Given the description of an element on the screen output the (x, y) to click on. 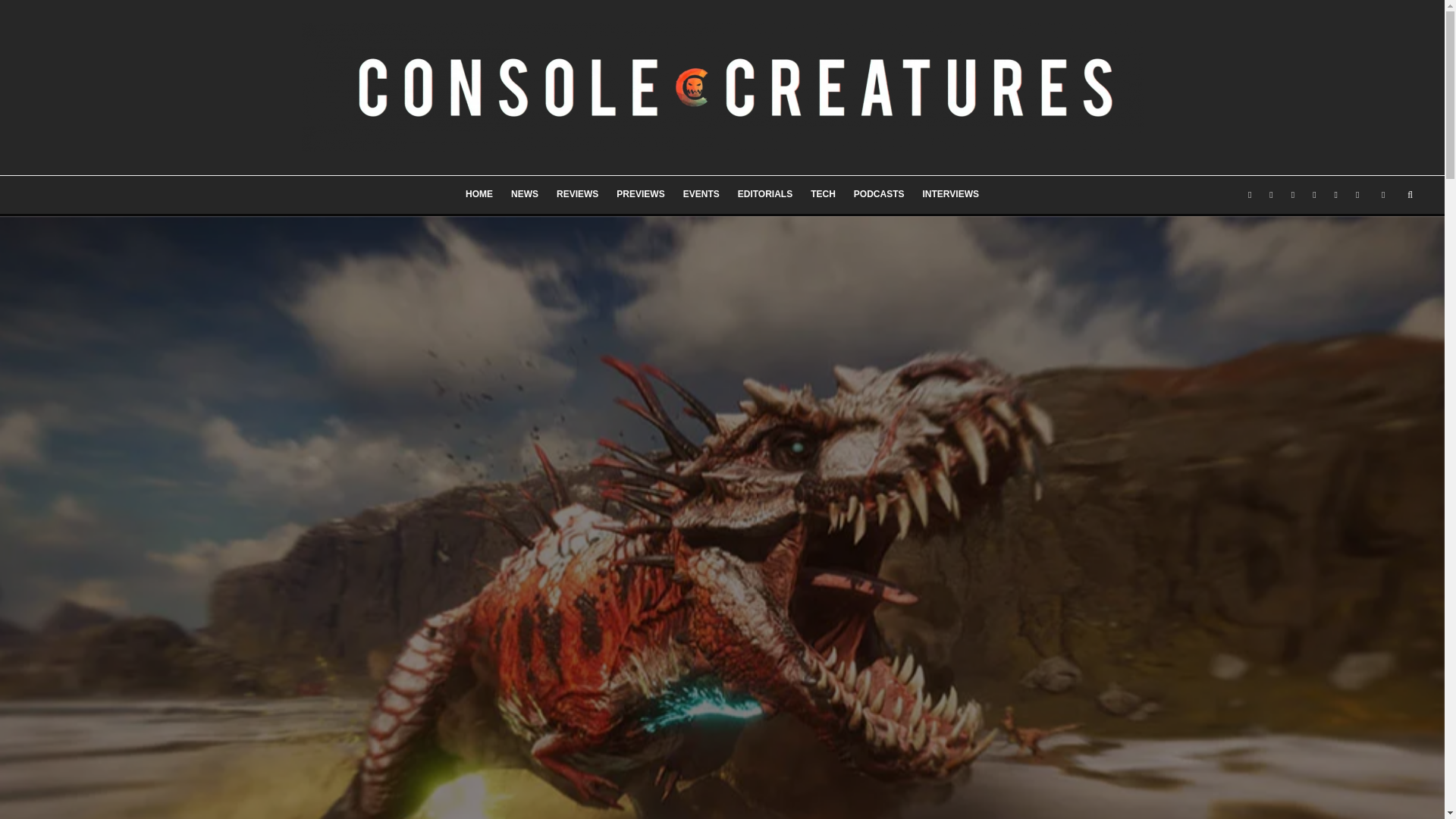
PREVIEWS (639, 194)
REVIEWS (577, 194)
HOME (479, 194)
NEWS (524, 194)
EVENTS (701, 194)
